Given the description of an element on the screen output the (x, y) to click on. 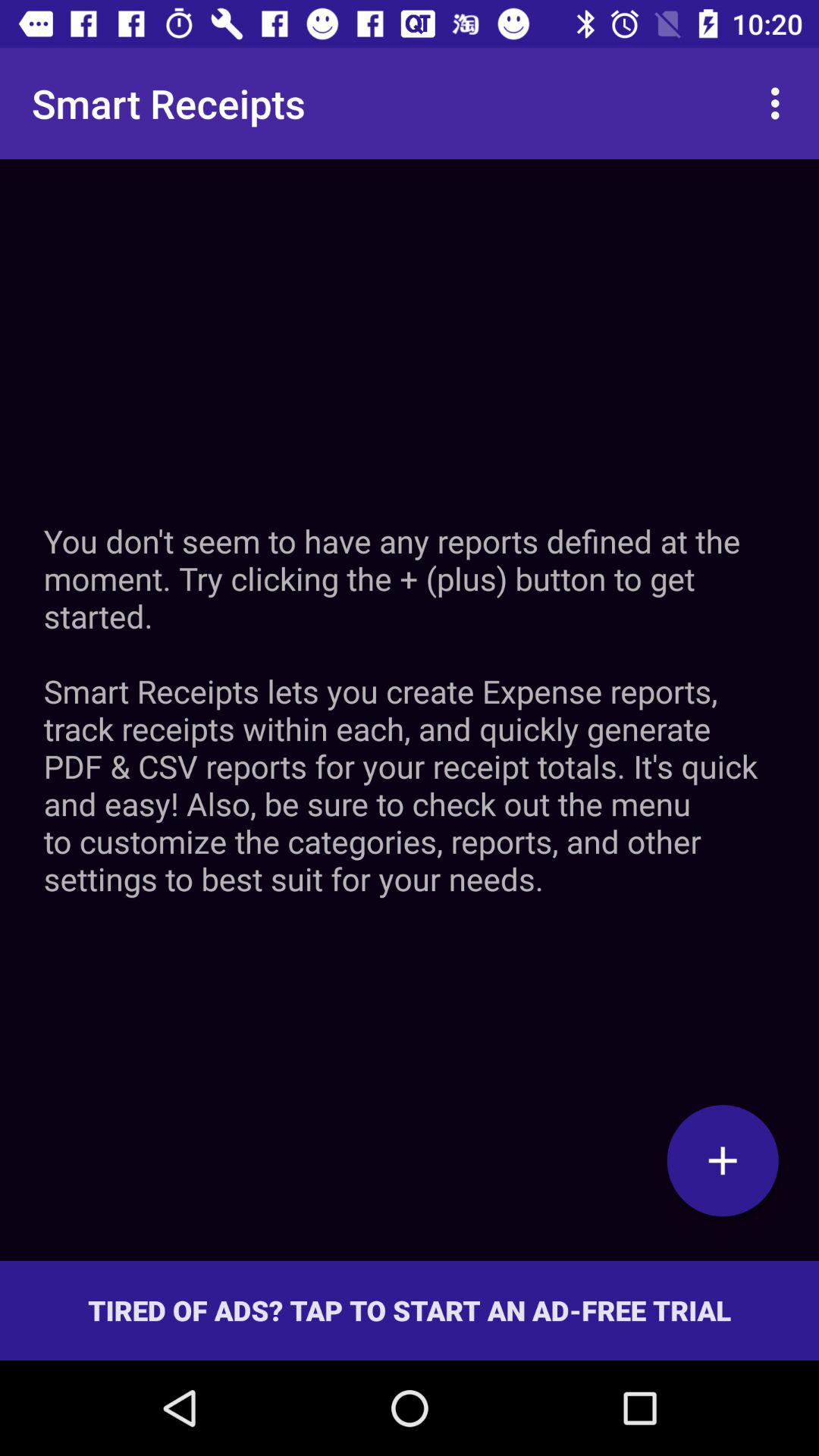
select the tired of ads (409, 1310)
